Given the description of an element on the screen output the (x, y) to click on. 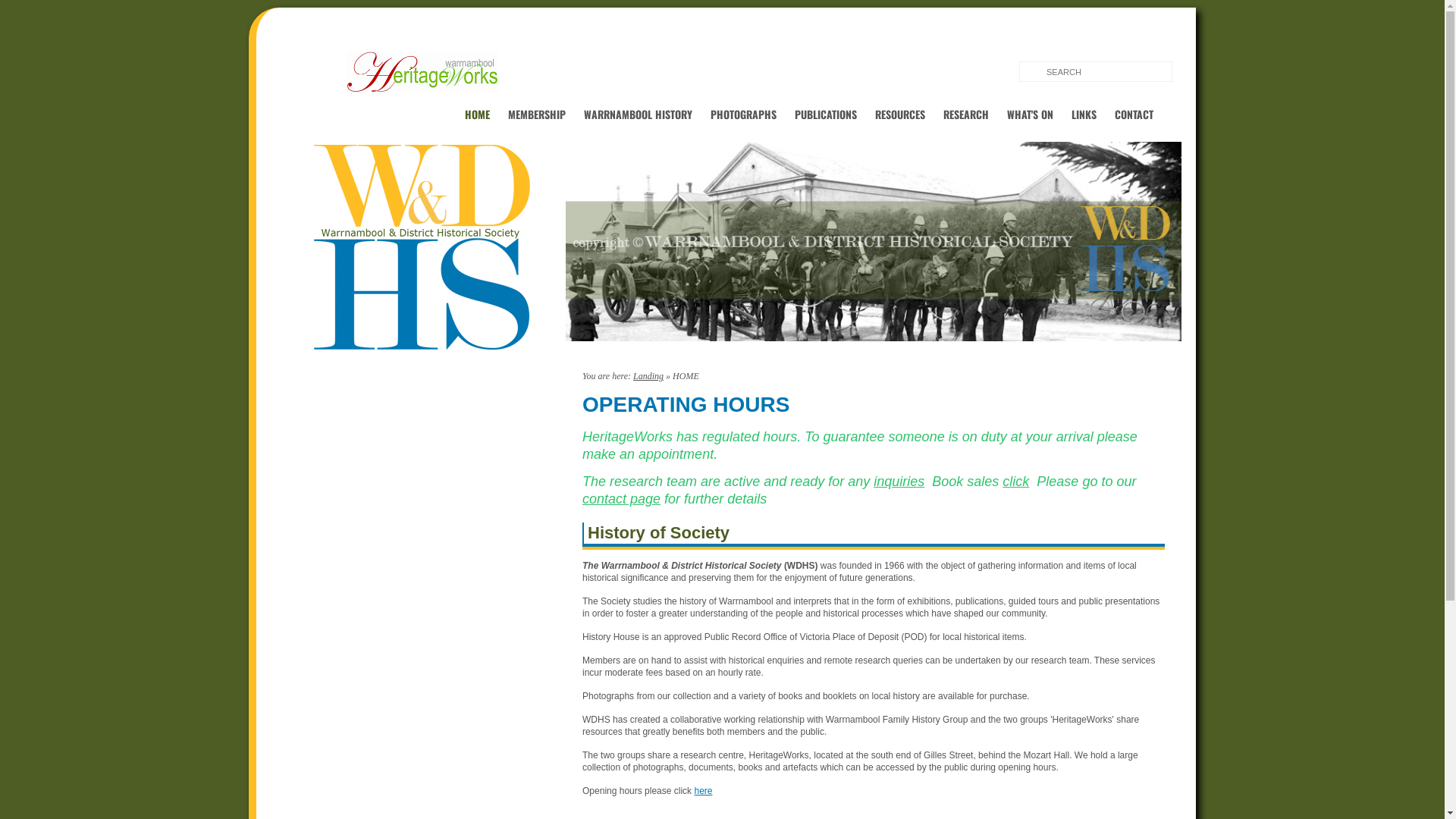
here Element type: text (702, 790)
CONTACT Element type: text (1133, 114)
LINKS Element type: text (1083, 114)
HOME Element type: text (476, 114)
click Element type: text (1015, 481)
RESOURCES Element type: text (900, 114)
Skip to navigation Element type: text (290, 23)
contact page Element type: text (621, 498)
RESEARCH Element type: text (965, 114)
PHOTOGRAPHS Element type: text (743, 114)
MEMBERSHIP Element type: text (536, 114)
inquiries Element type: text (898, 481)
Landing Element type: text (648, 375)
WHAT'S ON Element type: text (1030, 114)
PUBLICATIONS Element type: text (825, 114)
